Given the description of an element on the screen output the (x, y) to click on. 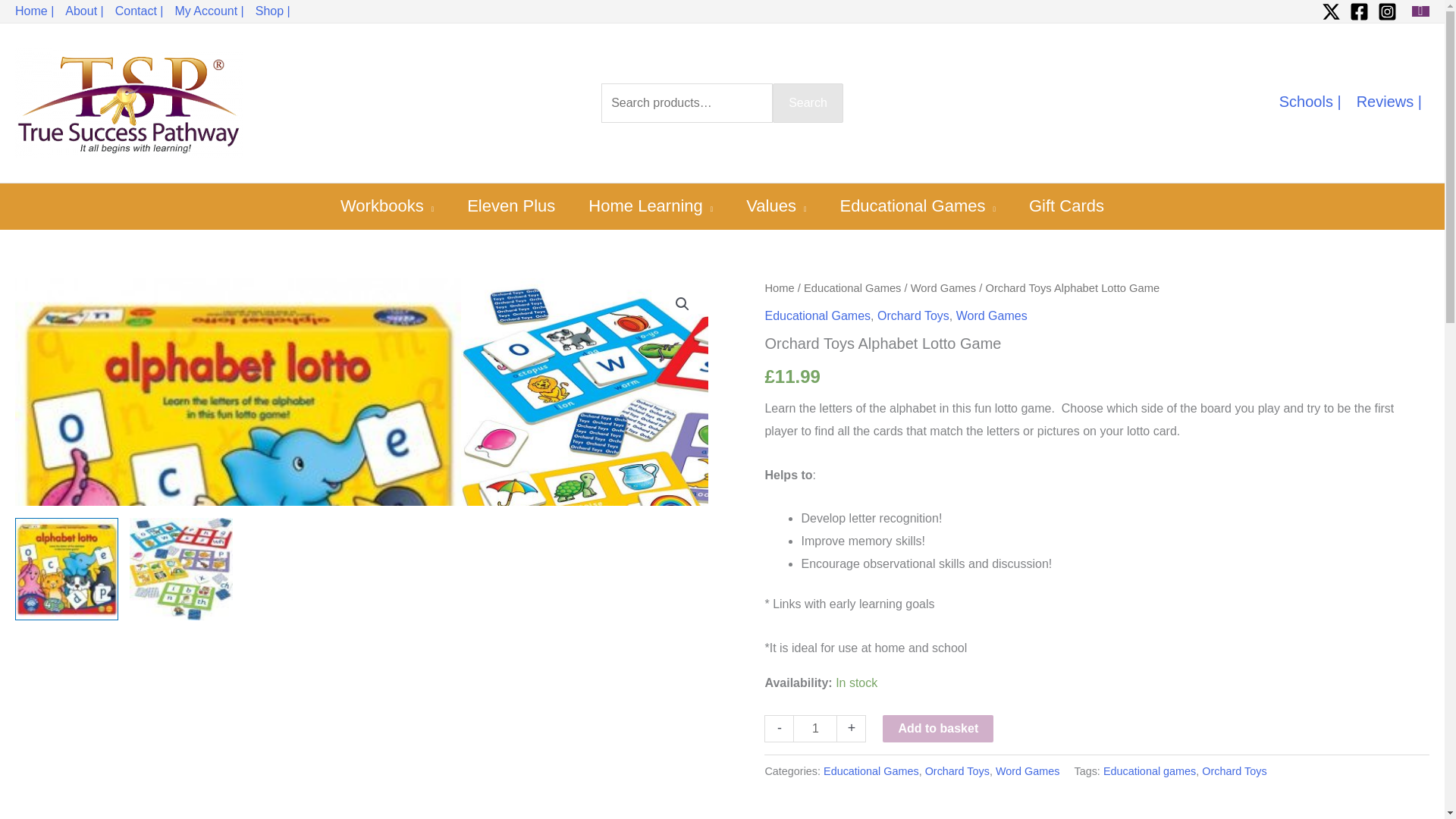
Workbooks (386, 205)
Eleven Plus (510, 205)
Home Learning (650, 205)
1 (815, 728)
Search (808, 102)
